Given the description of an element on the screen output the (x, y) to click on. 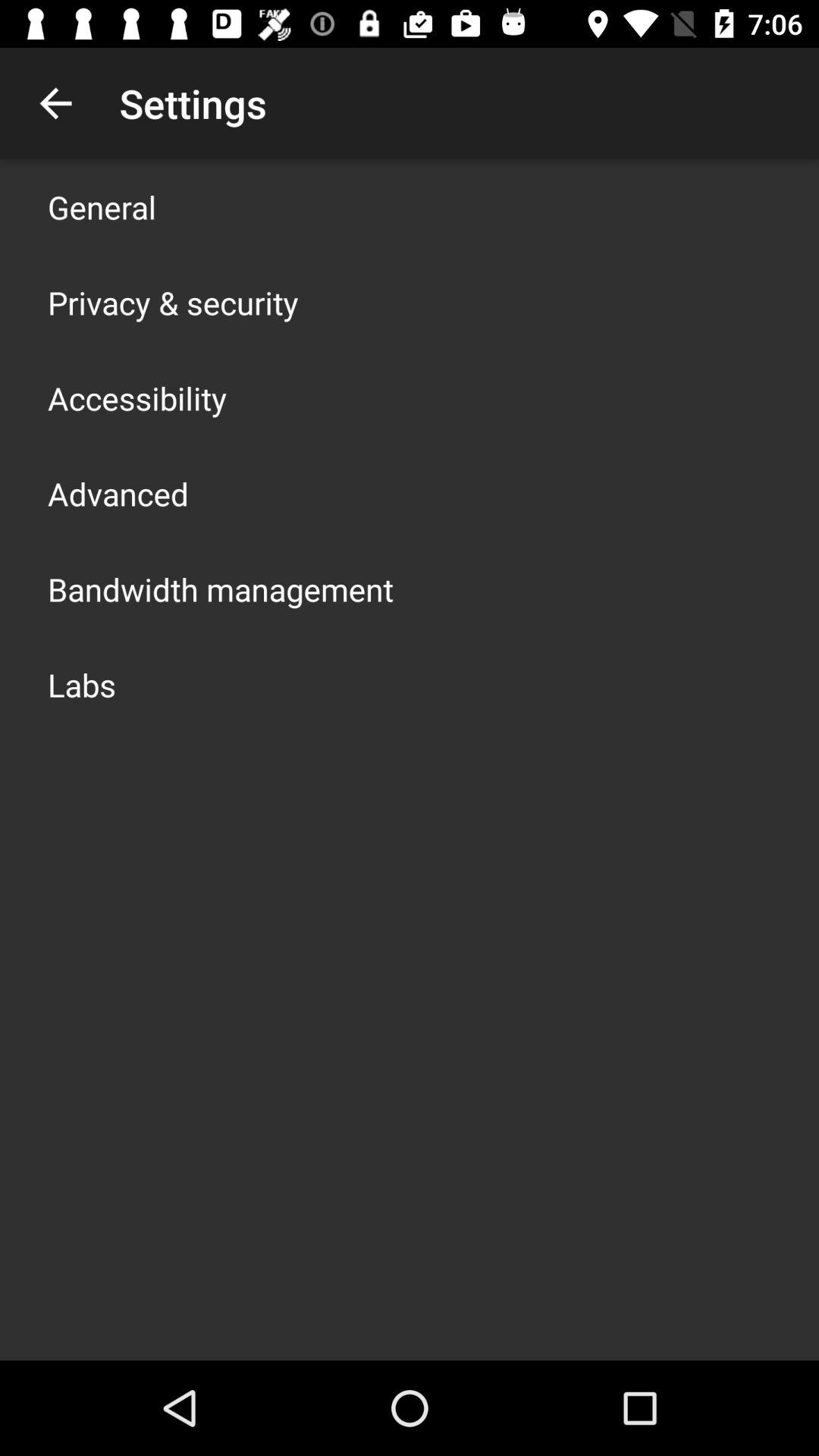
launch the bandwidth management app (220, 588)
